Given the description of an element on the screen output the (x, y) to click on. 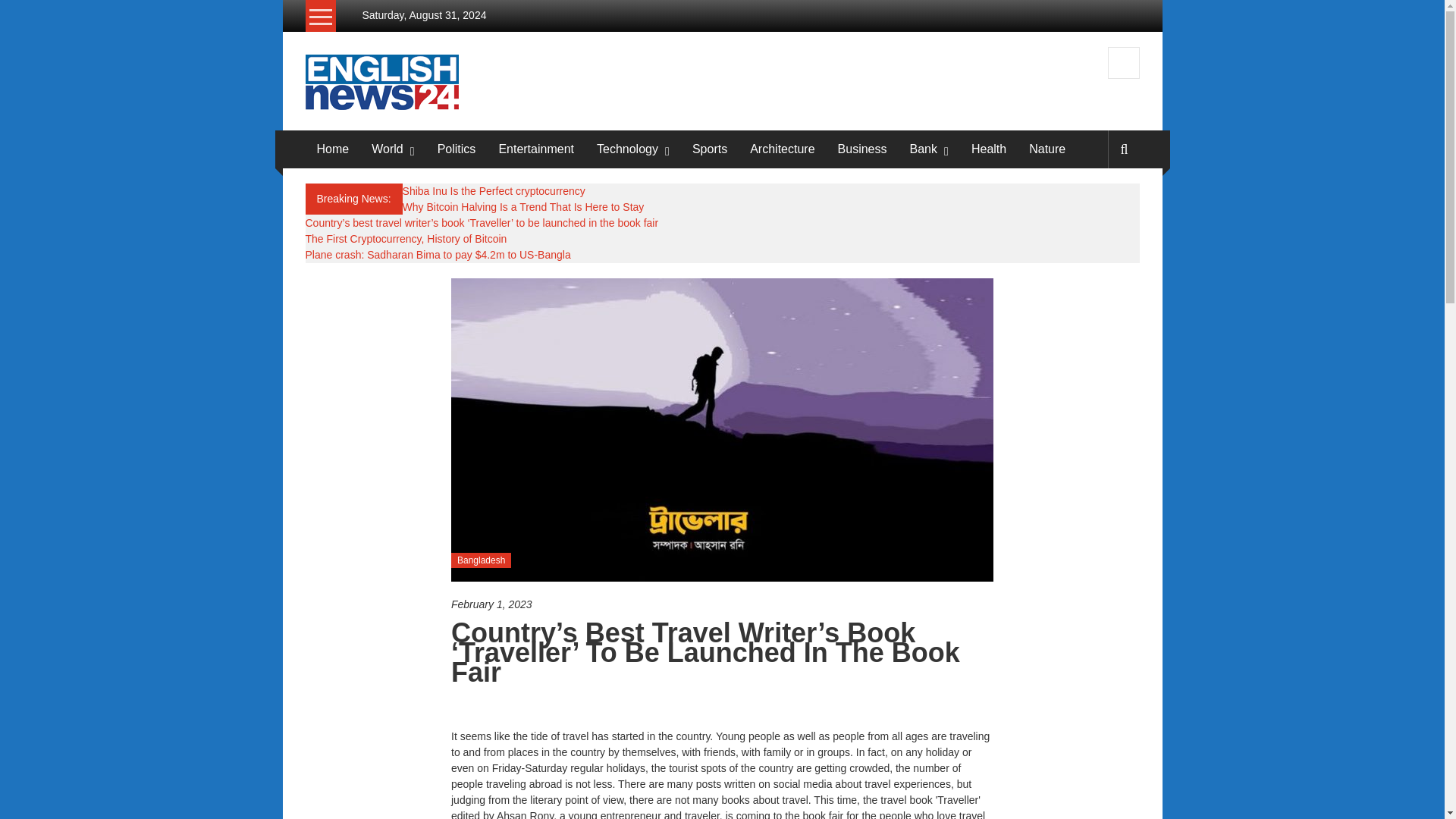
Politics (457, 149)
Technology (627, 149)
News Portal (366, 61)
Sports (709, 149)
News Portal (381, 80)
The First Cryptocurrency, History of Bitcoin (405, 238)
Nature (1047, 149)
Architecture (781, 149)
Skip to content (317, 7)
Shiba Inu Is the Perfect cryptocurrency (494, 191)
